Given the description of an element on the screen output the (x, y) to click on. 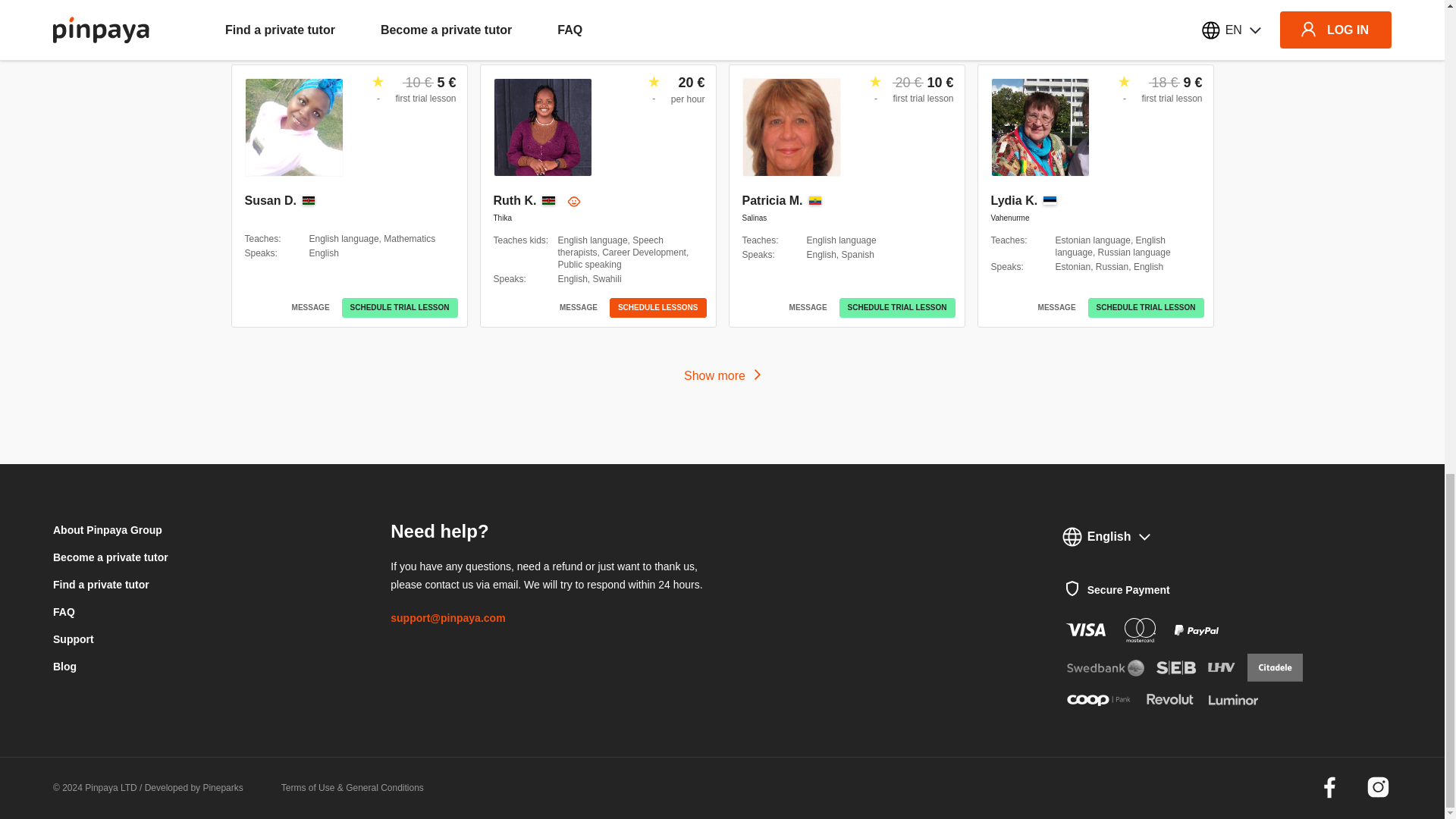
SCHEDULE TRIAL LESSON (400, 307)
Susan D. (269, 200)
MESSAGE (311, 307)
